Given the description of an element on the screen output the (x, y) to click on. 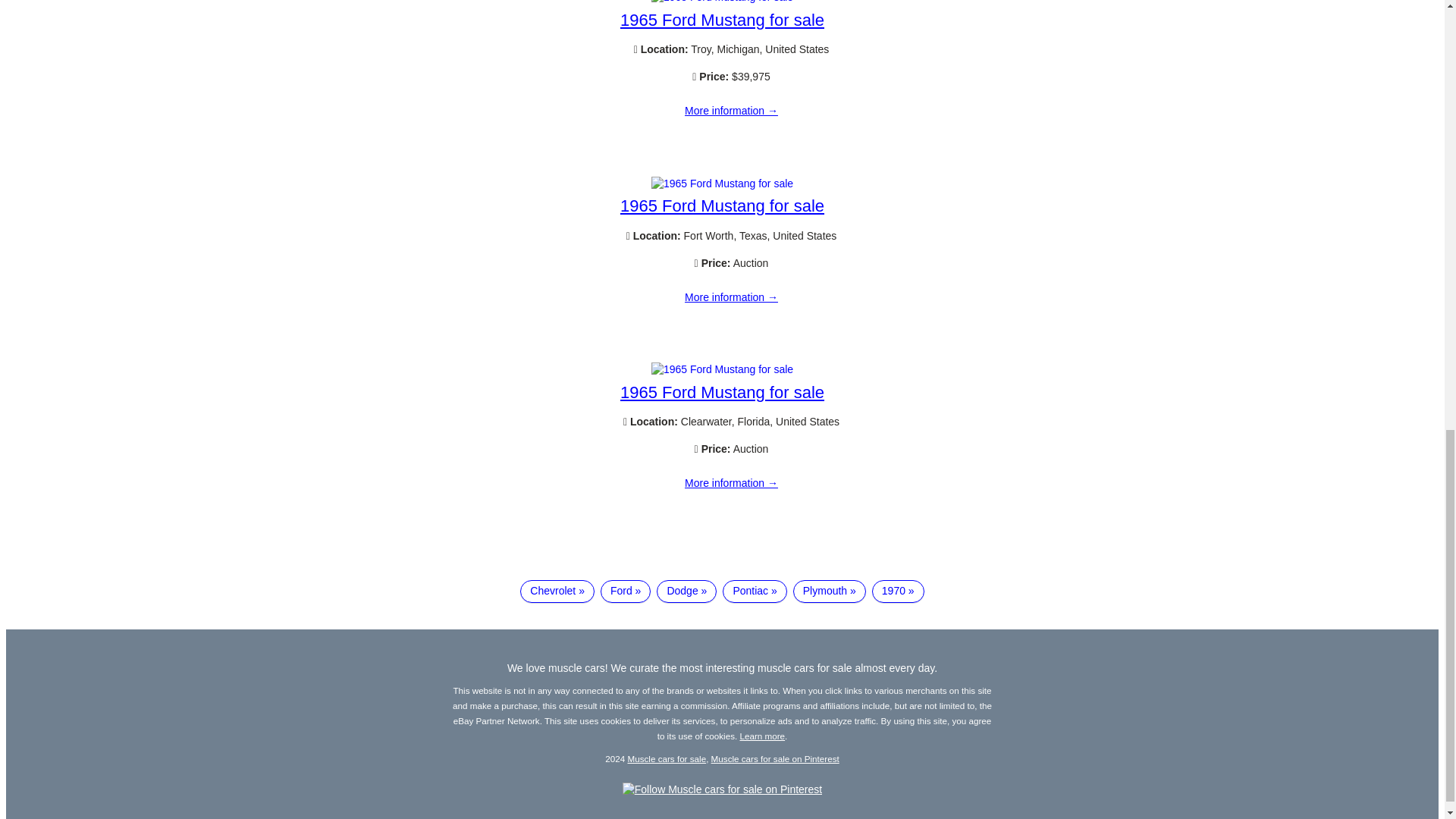
1965 Ford Mustang for sale (721, 1)
1965 Ford Mustang for sale (722, 19)
1965 Ford Mustang for sale (721, 369)
Ford (624, 590)
Muscle cars for sale (666, 758)
1965 Ford Mustang for sale (722, 205)
Chevrolet (556, 590)
Learn more (762, 736)
Muscle cars for sale on Pinterest (775, 758)
1965 Ford Mustang for sale (731, 111)
